Given the description of an element on the screen output the (x, y) to click on. 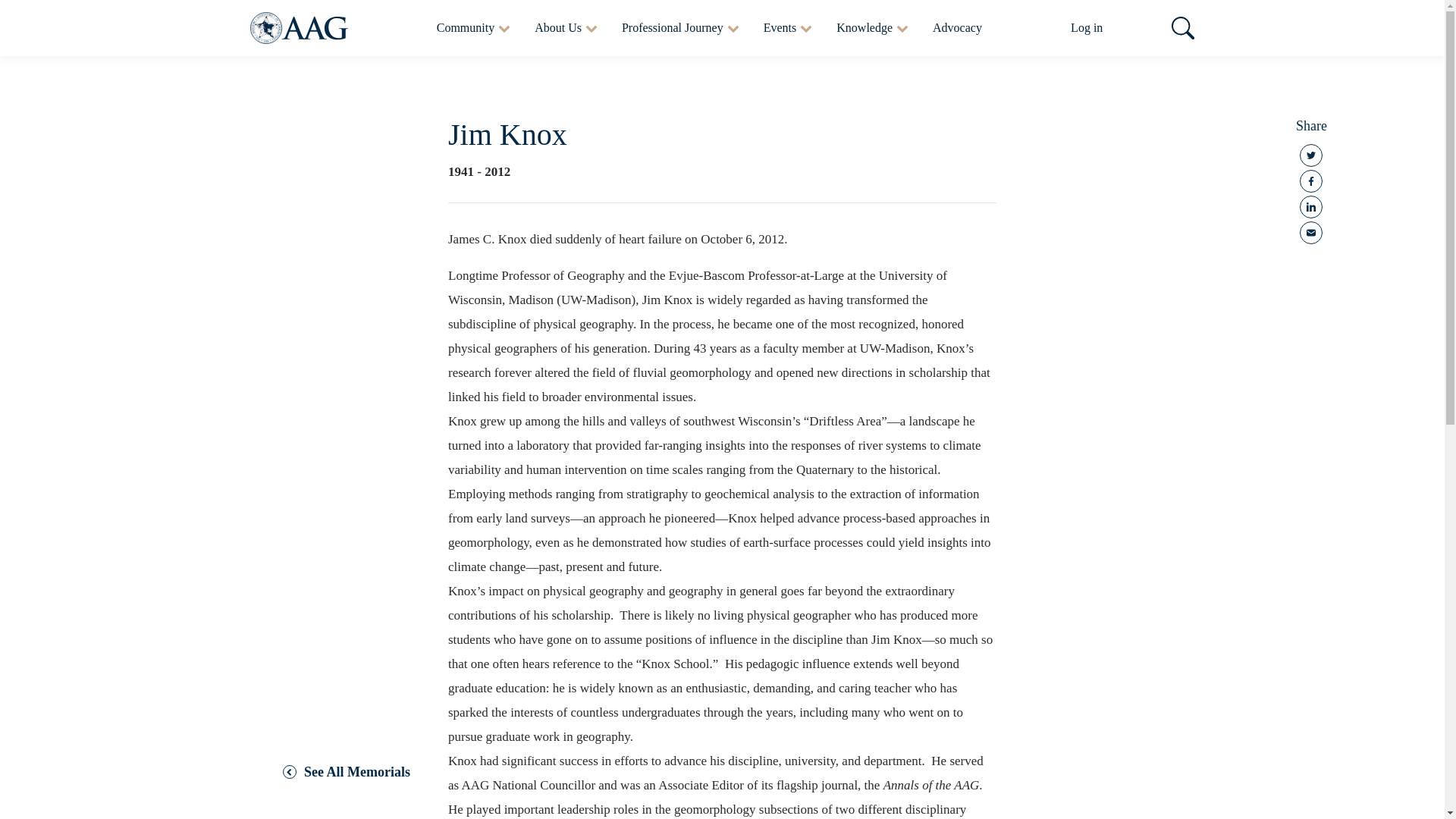
Share on Facebook (1311, 180)
Search (1175, 27)
Share by Email (1311, 232)
American Association of Geographers (298, 28)
Professional Journey (680, 28)
Share on Twitter (1311, 155)
Site-wide Search (1182, 27)
About Us (566, 28)
Community (473, 28)
Share on LinkedIn (1311, 206)
